Given the description of an element on the screen output the (x, y) to click on. 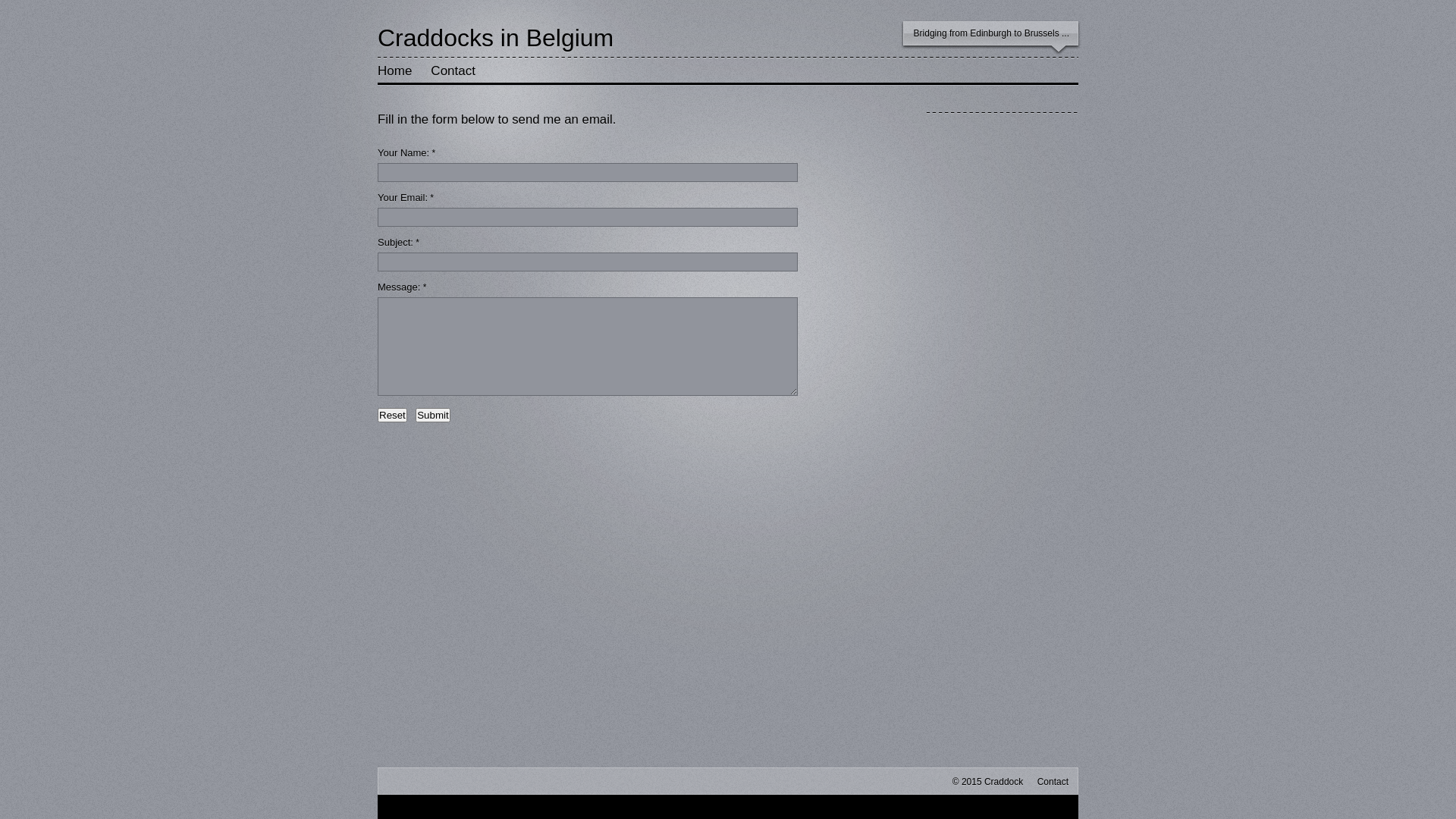
Submit Element type: text (432, 414)
Contact Element type: text (1047, 781)
Home Element type: text (394, 71)
Contact Element type: text (452, 71)
